Given the description of an element on the screen output the (x, y) to click on. 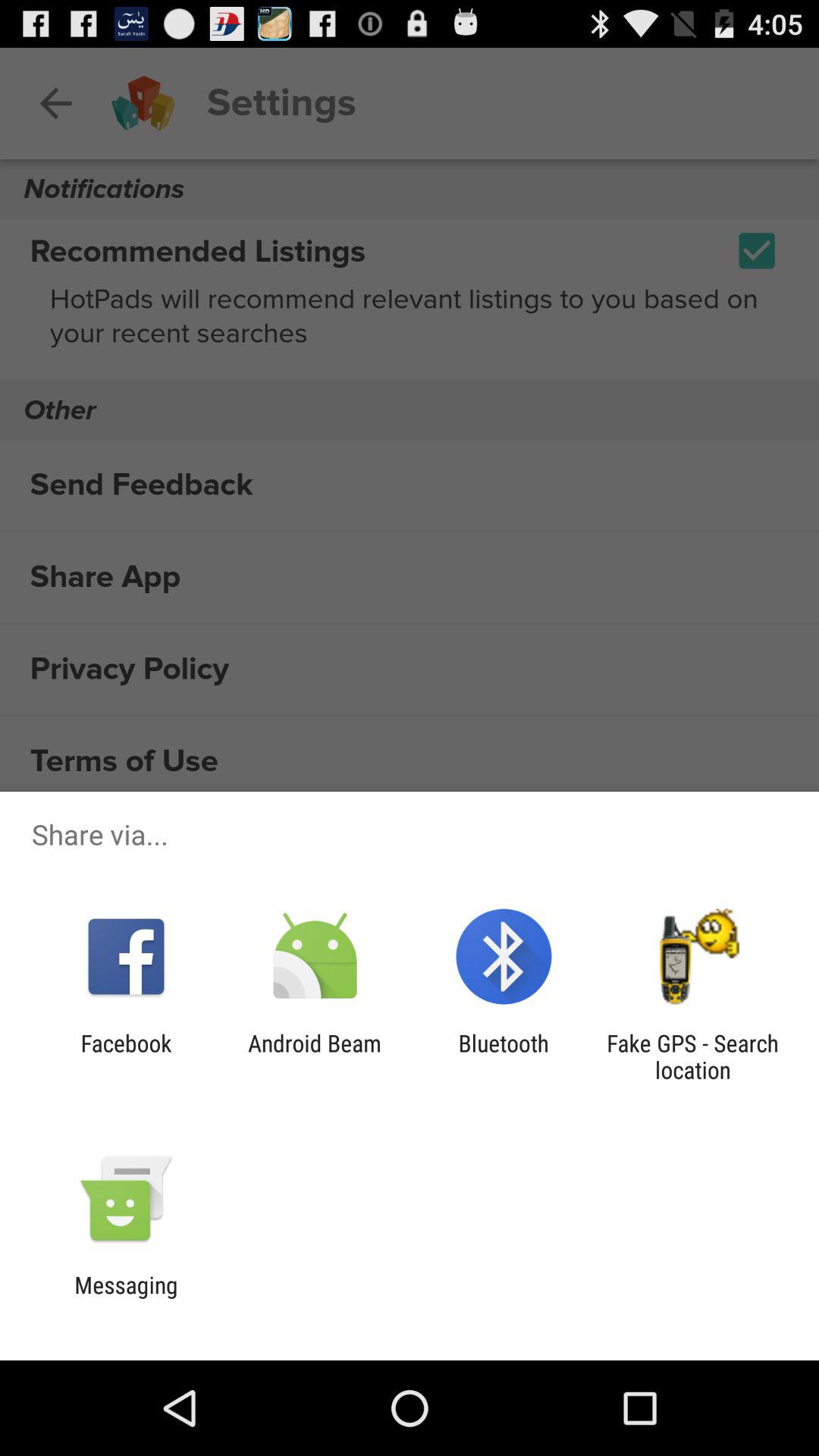
turn off app to the left of fake gps search (503, 1056)
